Given the description of an element on the screen output the (x, y) to click on. 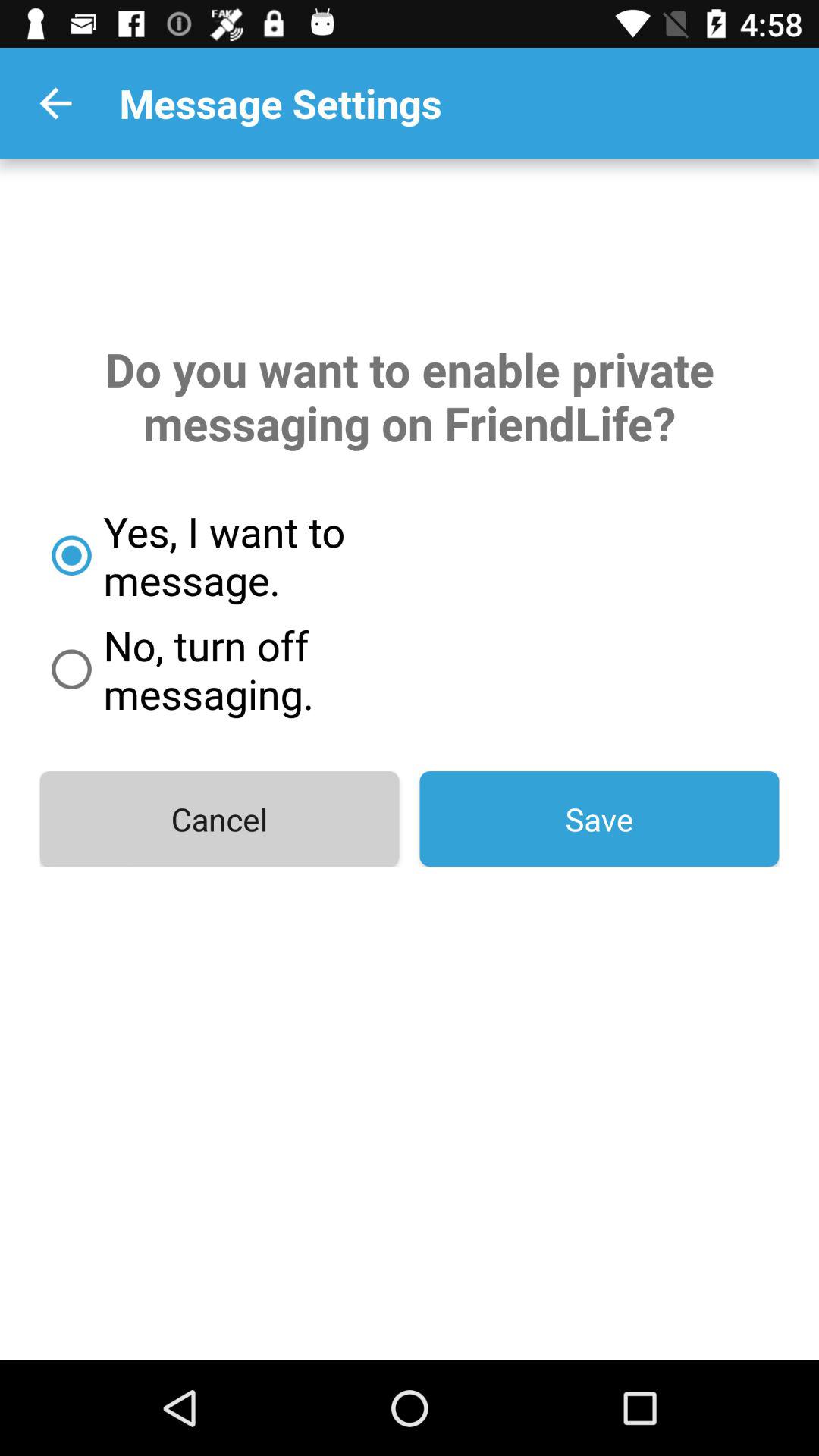
launch the no turn off item (278, 669)
